Given the description of an element on the screen output the (x, y) to click on. 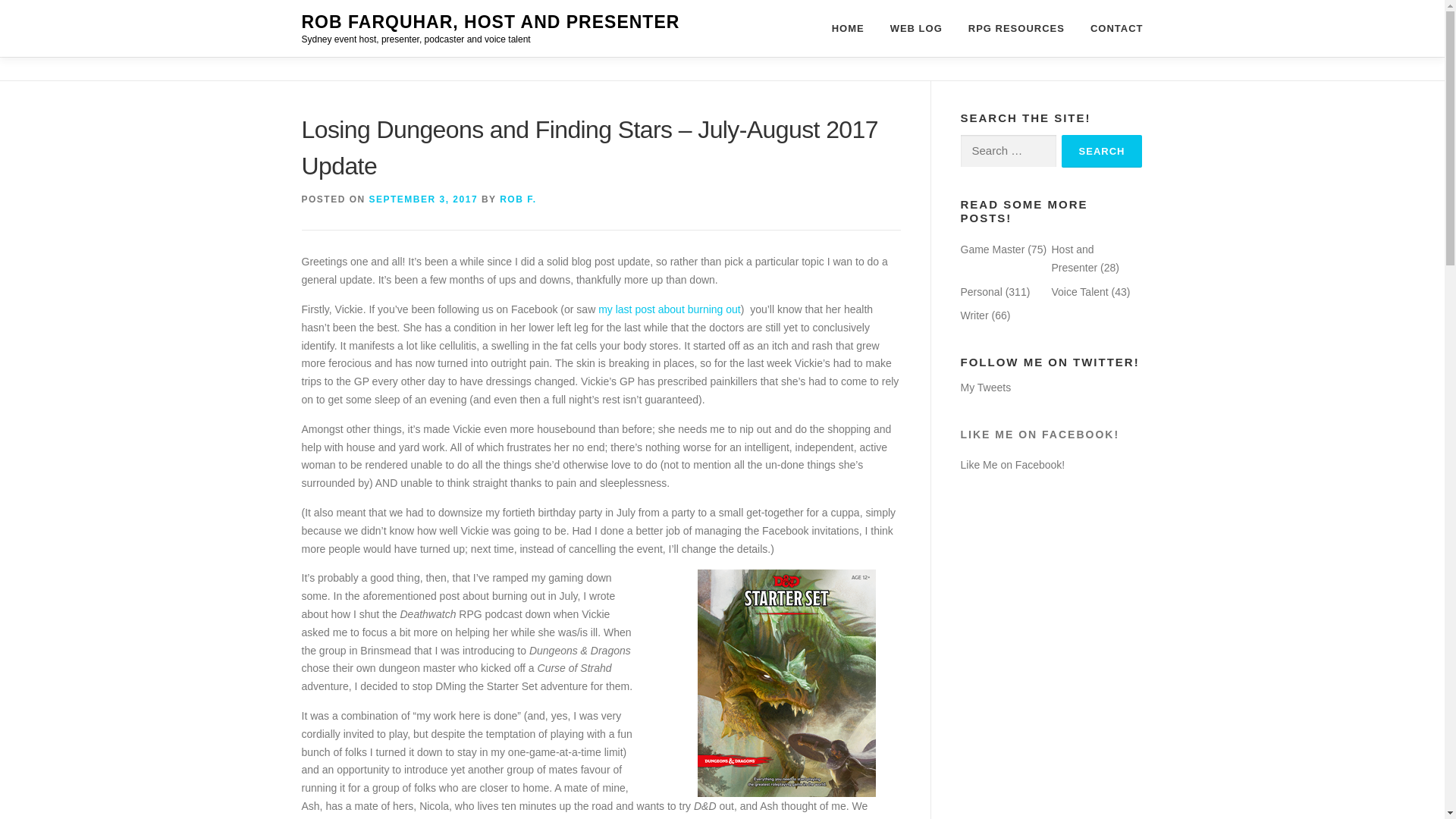
CONTACT (1109, 28)
Search (1101, 151)
Like Me on Facebook! (1011, 464)
WEB LOG (916, 28)
HOME (847, 28)
LIKE ME ON FACEBOOK! (1039, 434)
ROB FARQUHAR, HOST AND PRESENTER (490, 21)
SEPTEMBER 3, 2017 (424, 199)
Game Master (992, 249)
RPG RESOURCES (1016, 28)
